Given the description of an element on the screen output the (x, y) to click on. 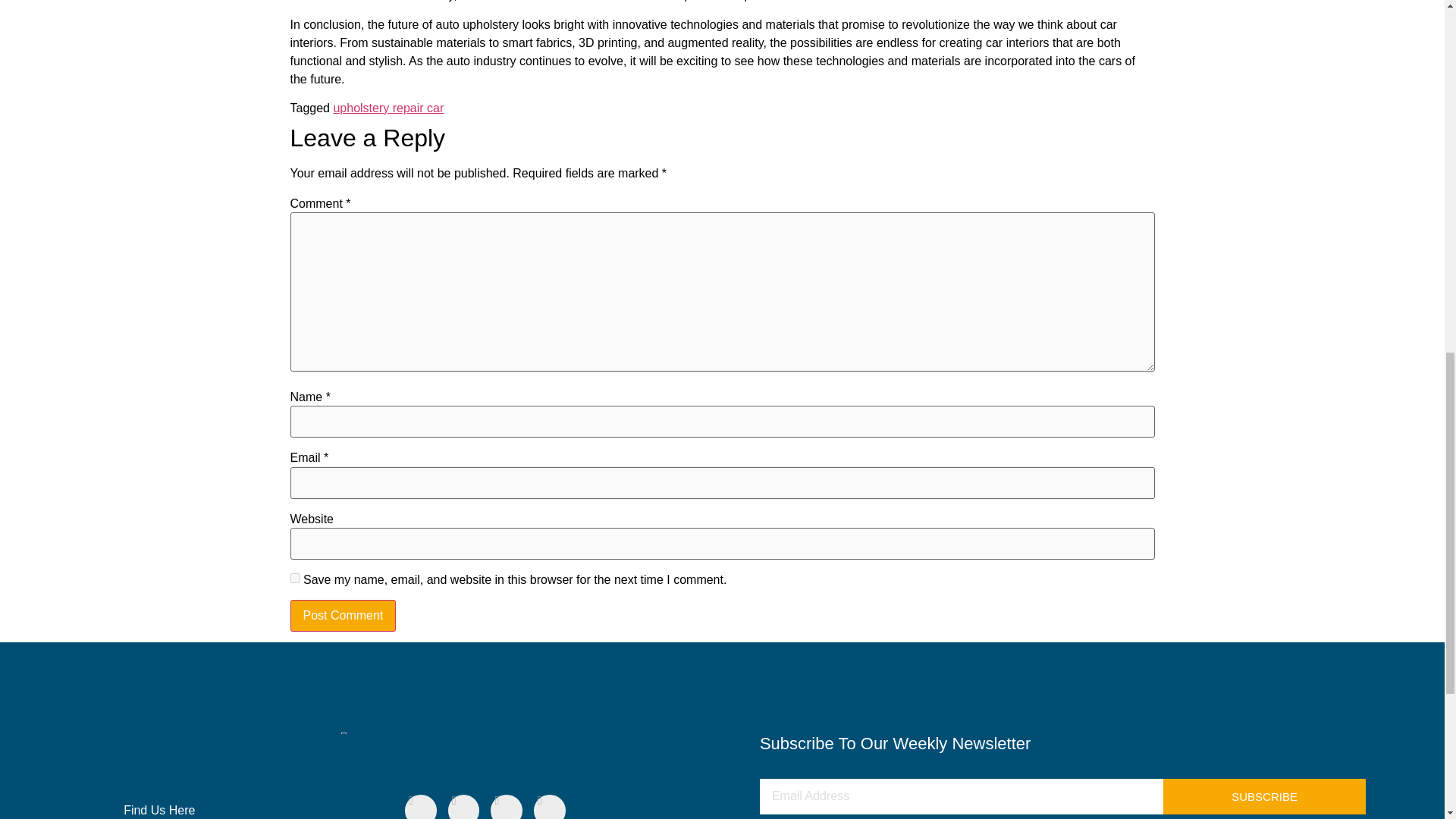
upholstery repair car (388, 107)
Post Comment (342, 615)
SUBSCRIBE (1264, 796)
Post Comment (342, 615)
yes (294, 578)
